Given the description of an element on the screen output the (x, y) to click on. 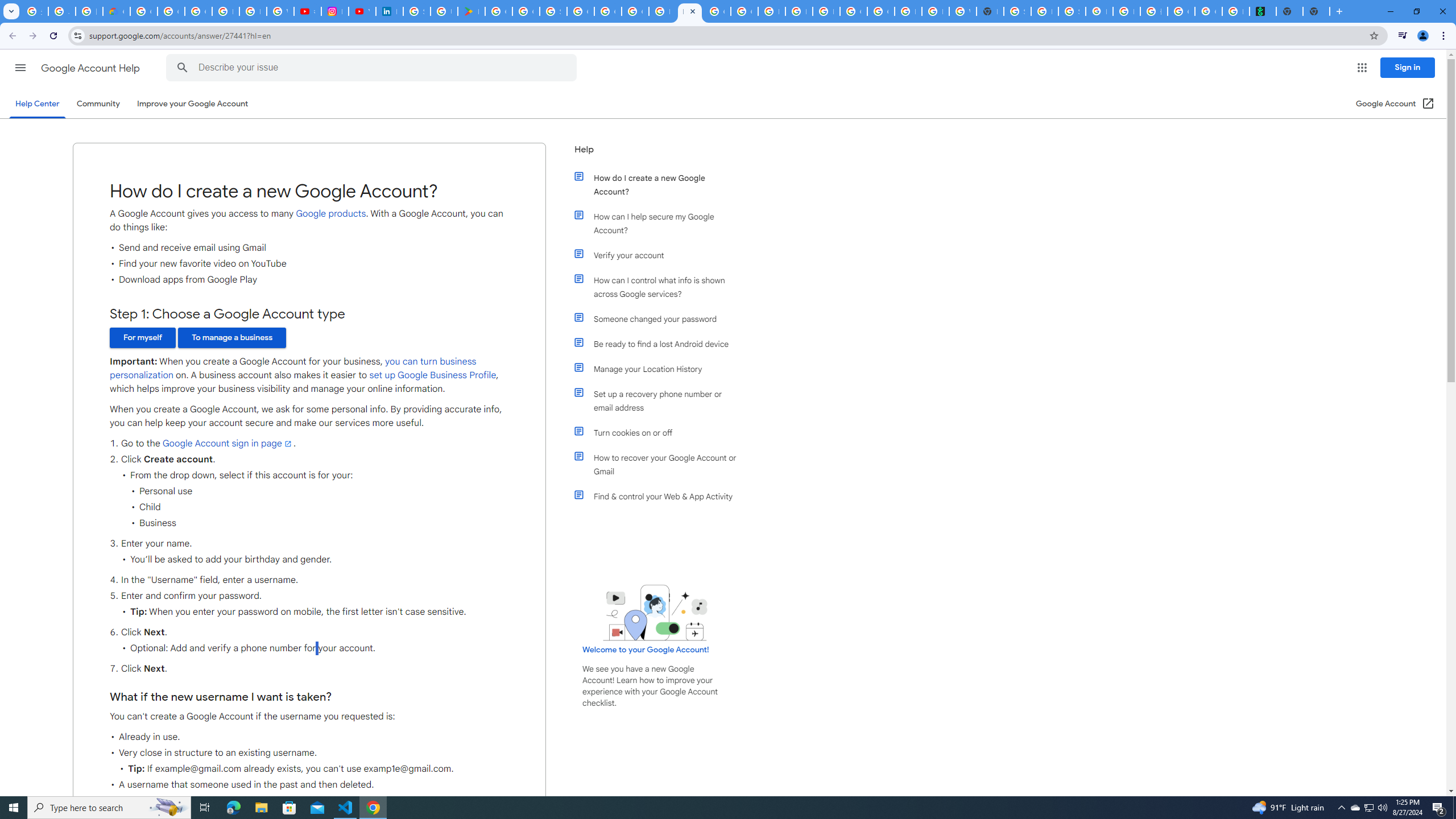
Learning Center home page image (655, 612)
How can I help secure my Google Account? (661, 223)
Find & control your Web & App Activity (661, 496)
